Given the description of an element on the screen output the (x, y) to click on. 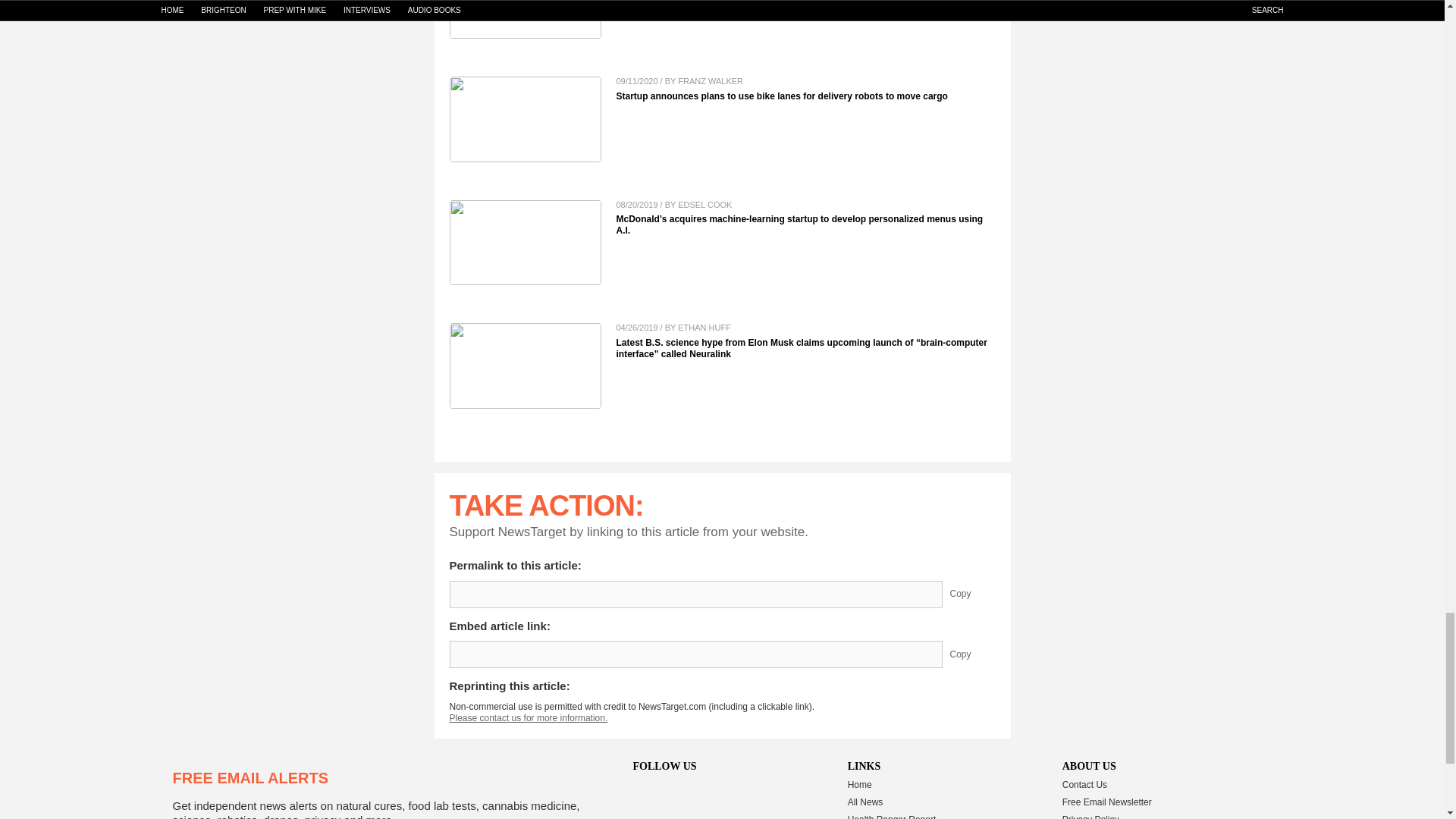
Copy Embed Link (971, 654)
Copy Permalink (971, 594)
